Given the description of an element on the screen output the (x, y) to click on. 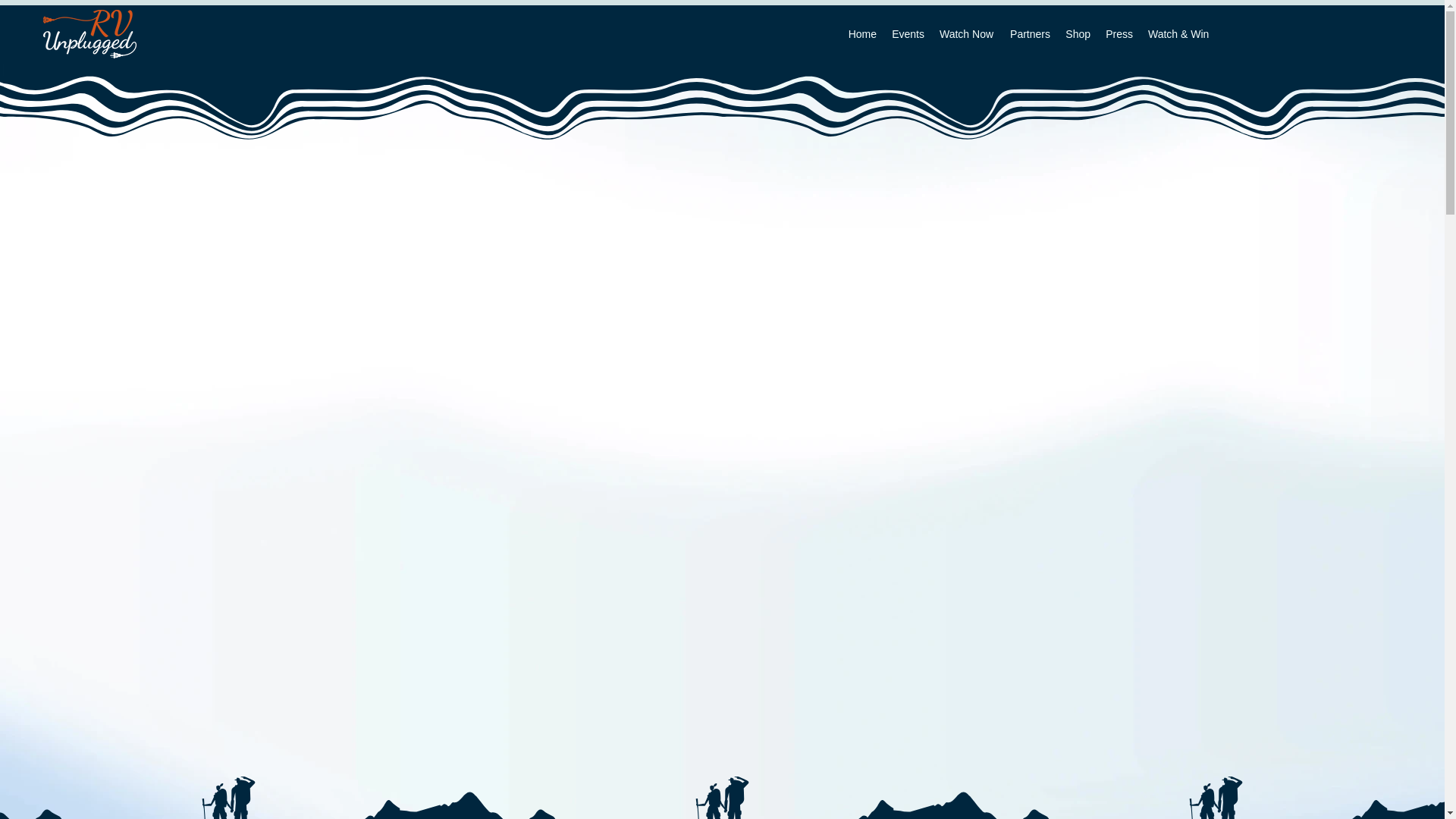
RV Unplugged Logo (89, 33)
Watch Now (966, 33)
Press (1118, 33)
Partners (1029, 33)
Home (861, 33)
Shop (1077, 33)
Events (907, 33)
